Given the description of an element on the screen output the (x, y) to click on. 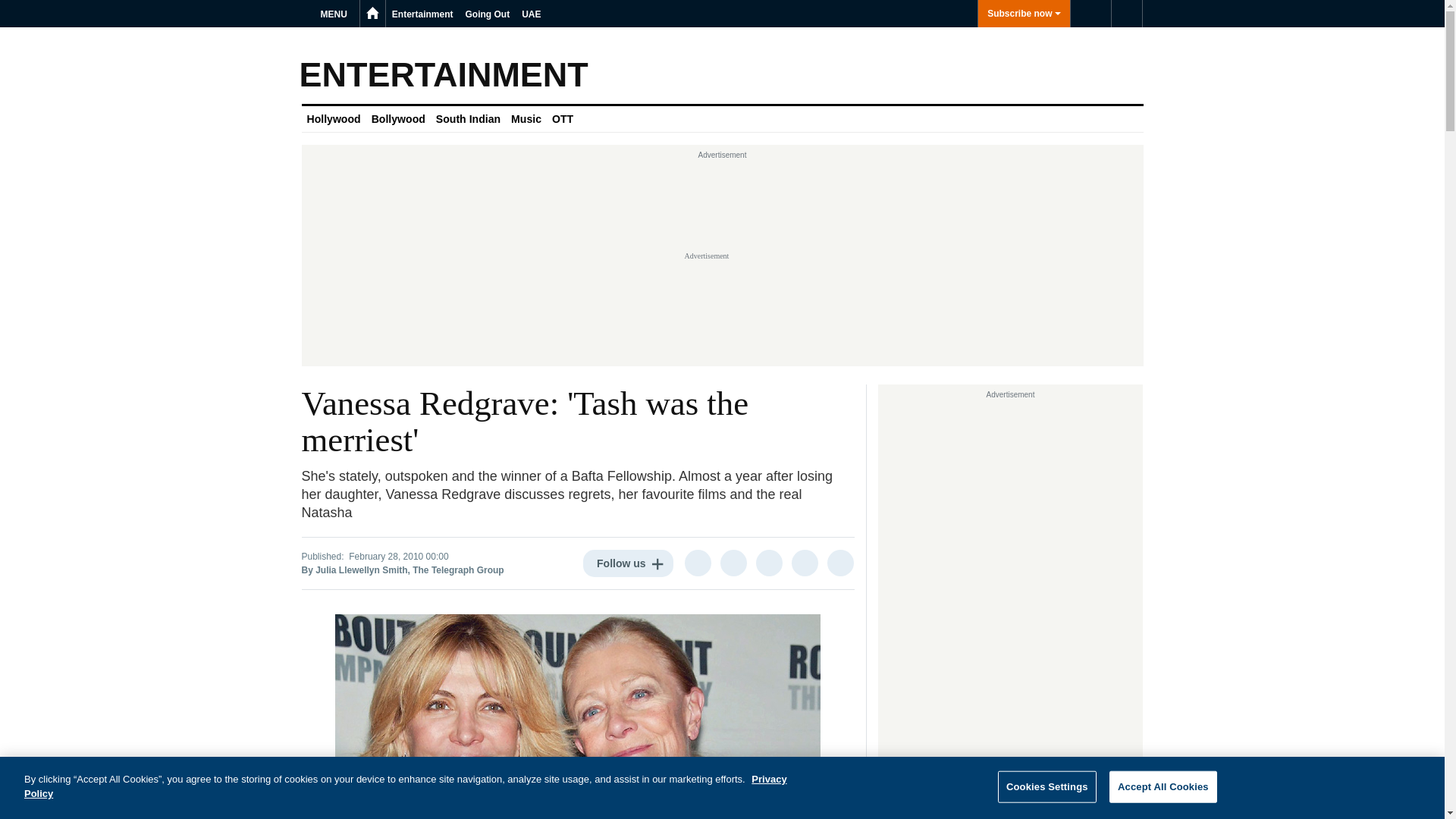
Going Out (488, 13)
Subscribe now (1024, 13)
Entertainment (422, 13)
MENU (336, 13)
UAE (531, 13)
